Given the description of an element on the screen output the (x, y) to click on. 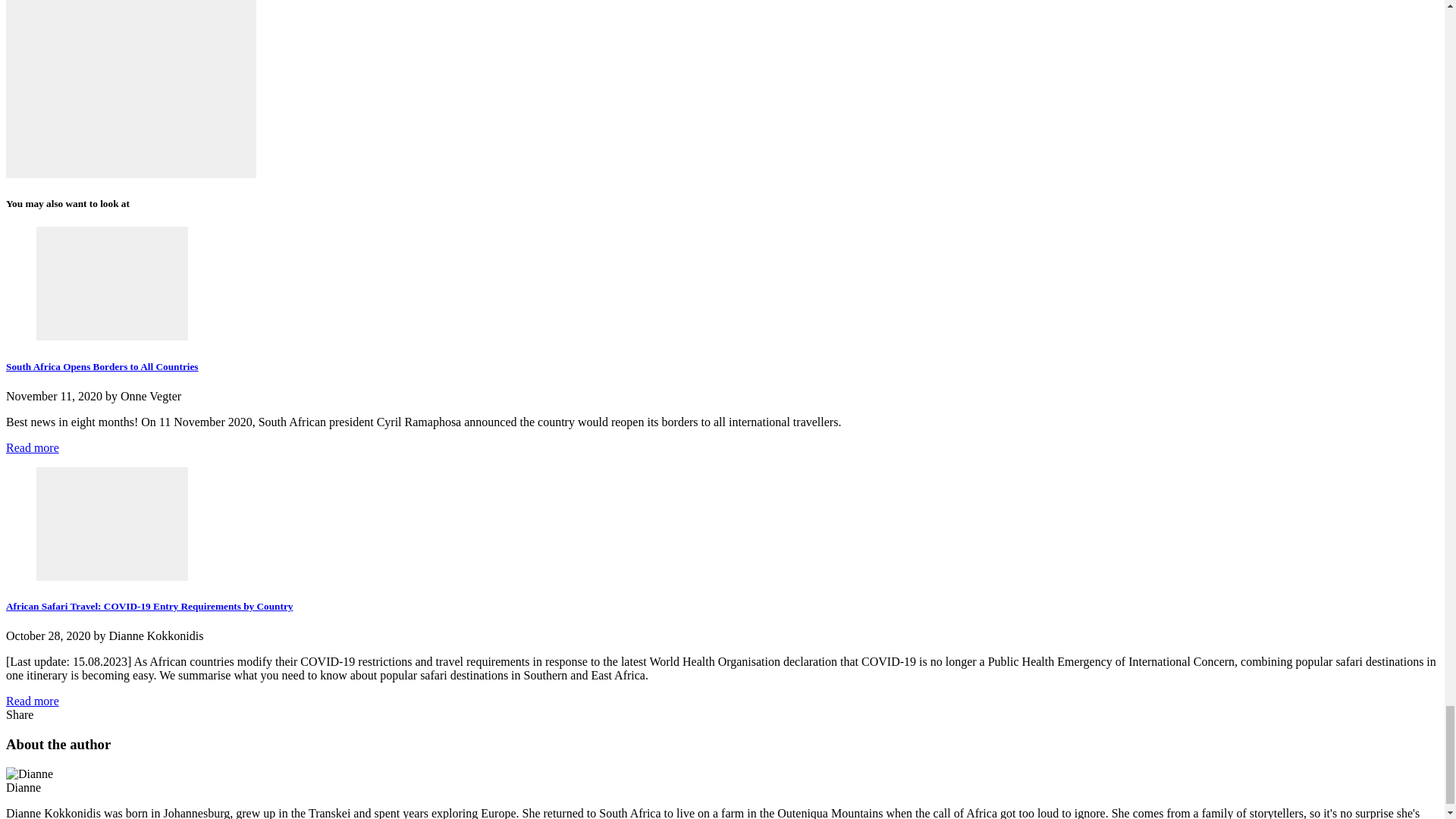
Read more (32, 447)
South Africa Opens Borders to All Countries (101, 366)
